Given the description of an element on the screen output the (x, y) to click on. 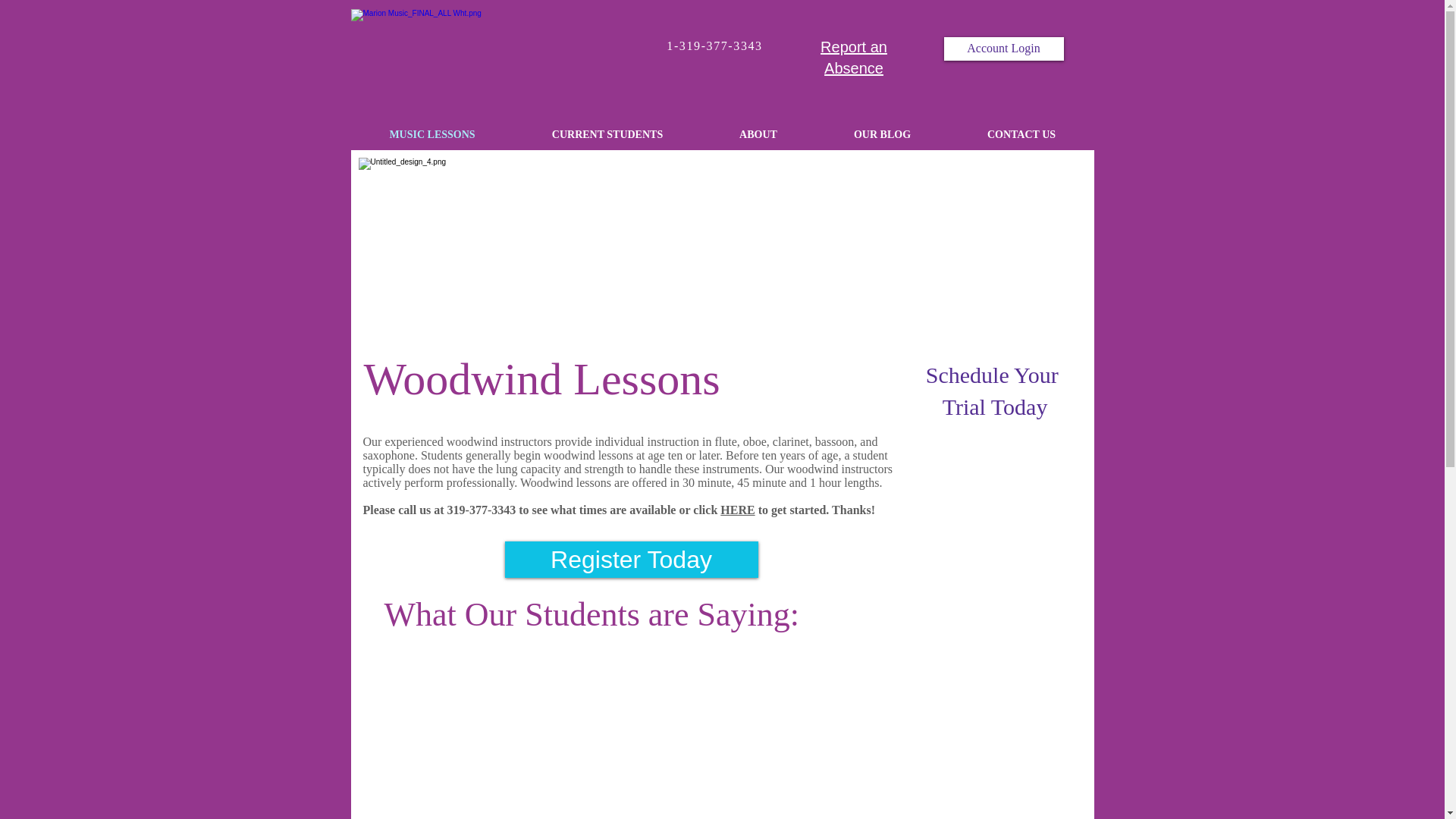
MUSIC LESSONS (431, 134)
OUR BLOG (882, 134)
Account Login (1002, 48)
Register Today (631, 559)
Report an Absence (853, 57)
CURRENT STUDENTS (607, 134)
ABOUT (757, 134)
CONTACT US (1021, 134)
HERE (737, 509)
